Given the description of an element on the screen output the (x, y) to click on. 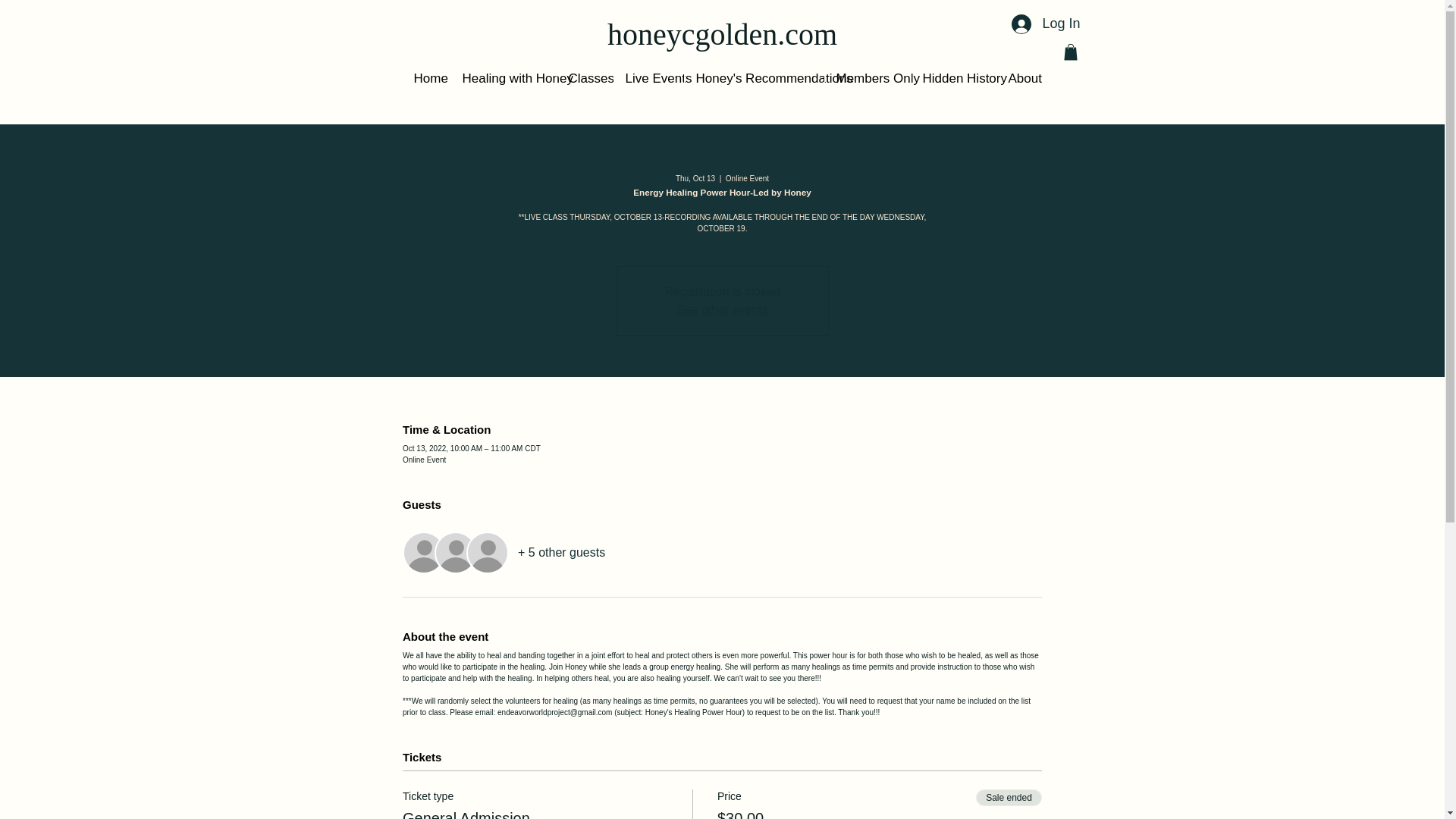
Honey's Recommendations (754, 77)
Home (425, 77)
About (1020, 77)
Healing with Honey (502, 77)
See other events (722, 309)
Live Events (647, 77)
Hidden History (952, 77)
Log In (1045, 23)
Classes (584, 77)
